Given the description of an element on the screen output the (x, y) to click on. 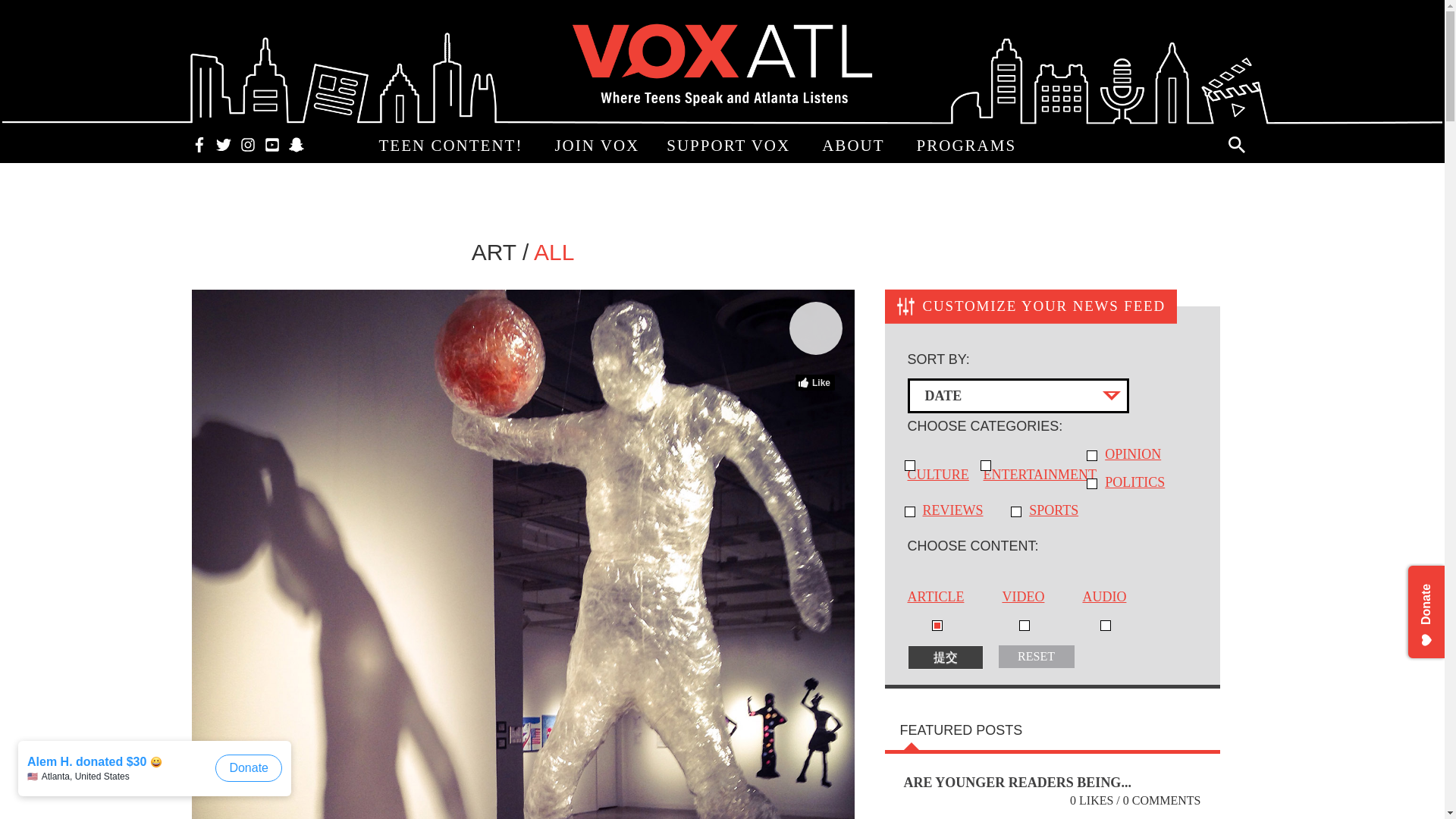
Friend me on Facebook (198, 143)
Add me on Snapchat (296, 143)
ABOUT (854, 146)
Follow me on Instagram (246, 143)
Search (1236, 144)
SUPPORT VOX (730, 146)
Follow me on Twitter (223, 143)
Add me on Snapchat (296, 143)
Search (1236, 144)
Follow me on Twitter (223, 143)
TEEN CONTENT! (453, 146)
Follow me on Instagram (246, 143)
JOIN VOX (596, 146)
Friend me on Facebook (198, 143)
PROGRAMS (968, 146)
